Given the description of an element on the screen output the (x, y) to click on. 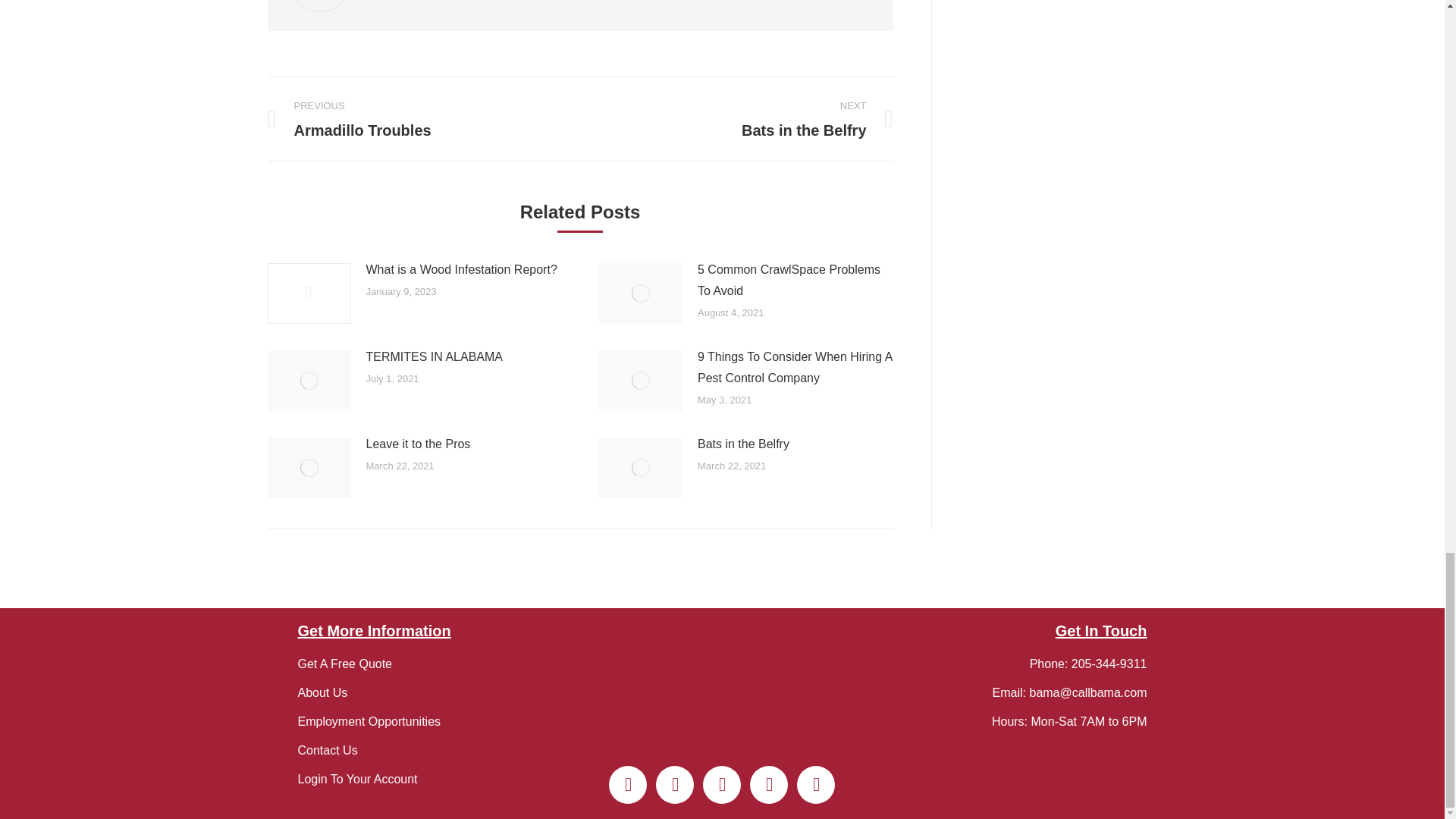
bama-reversed-logo (721, 687)
